Given the description of an element on the screen output the (x, y) to click on. 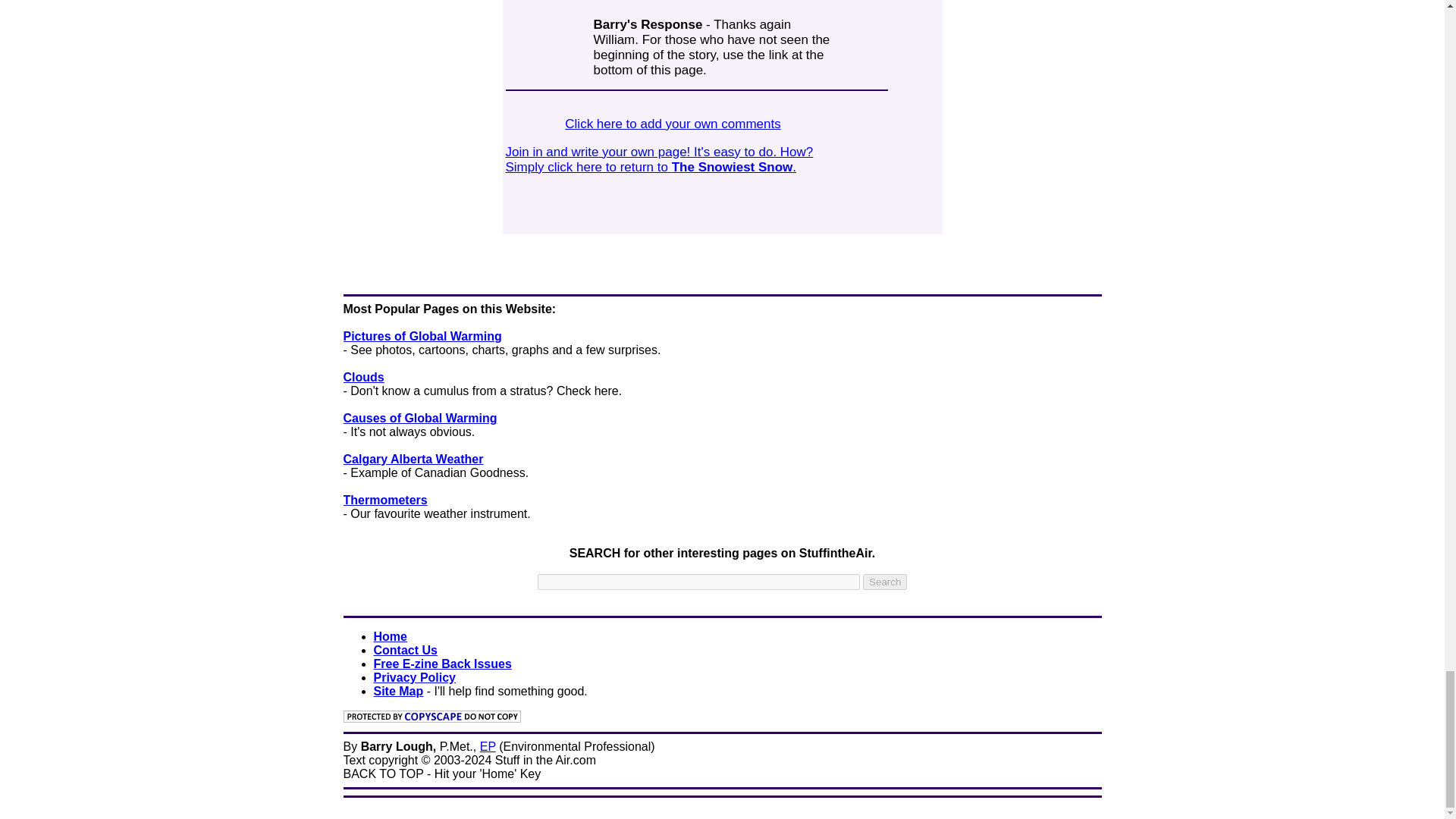
Search (885, 581)
Click here to add your own comments (672, 124)
